Given the description of an element on the screen output the (x, y) to click on. 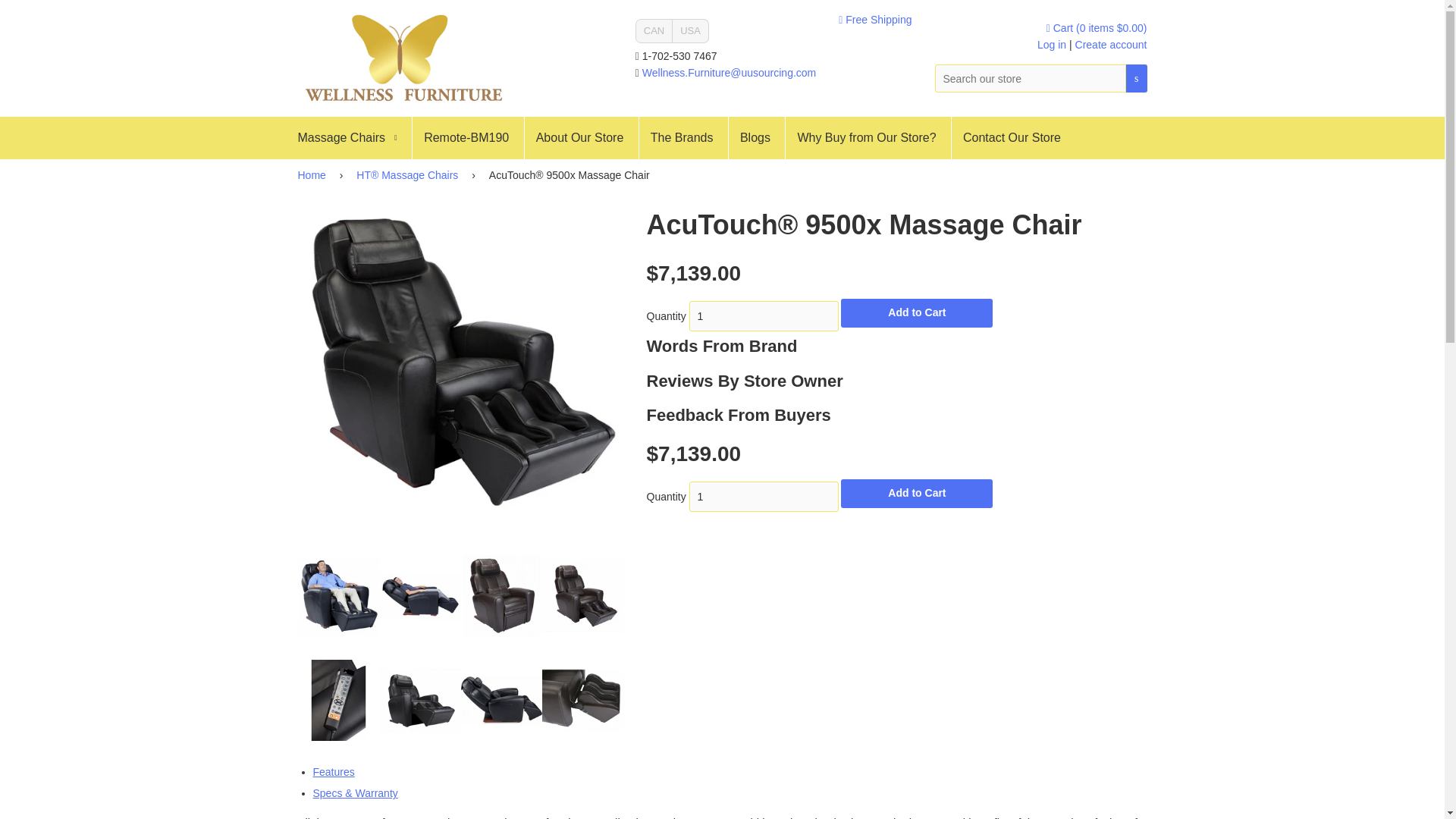
1 (763, 316)
1 (763, 496)
Back to the frontpage (313, 175)
